Given the description of an element on the screen output the (x, y) to click on. 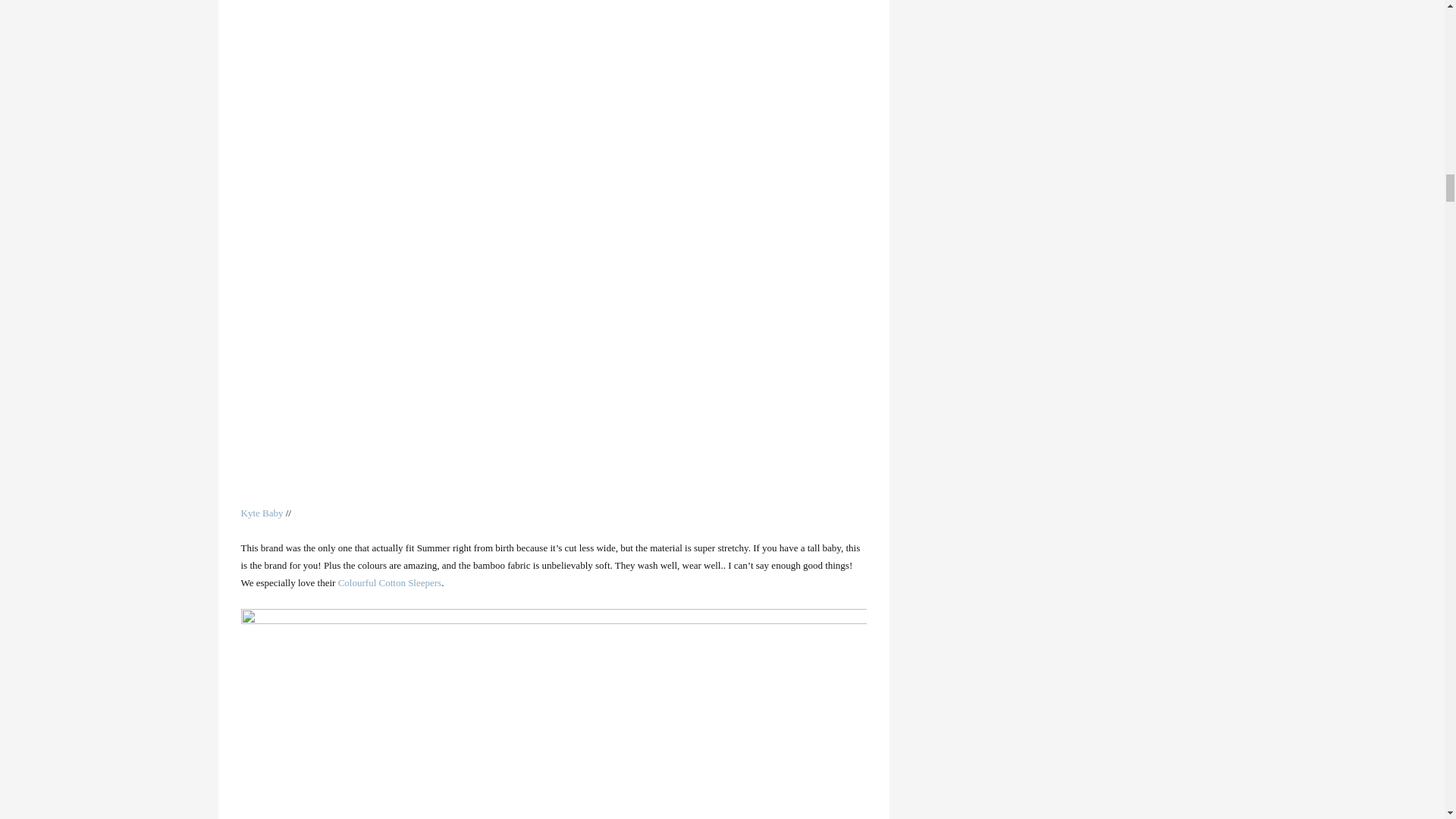
Kyte Baby (262, 512)
Colourful Cotton Sleepers (389, 582)
